Given the description of an element on the screen output the (x, y) to click on. 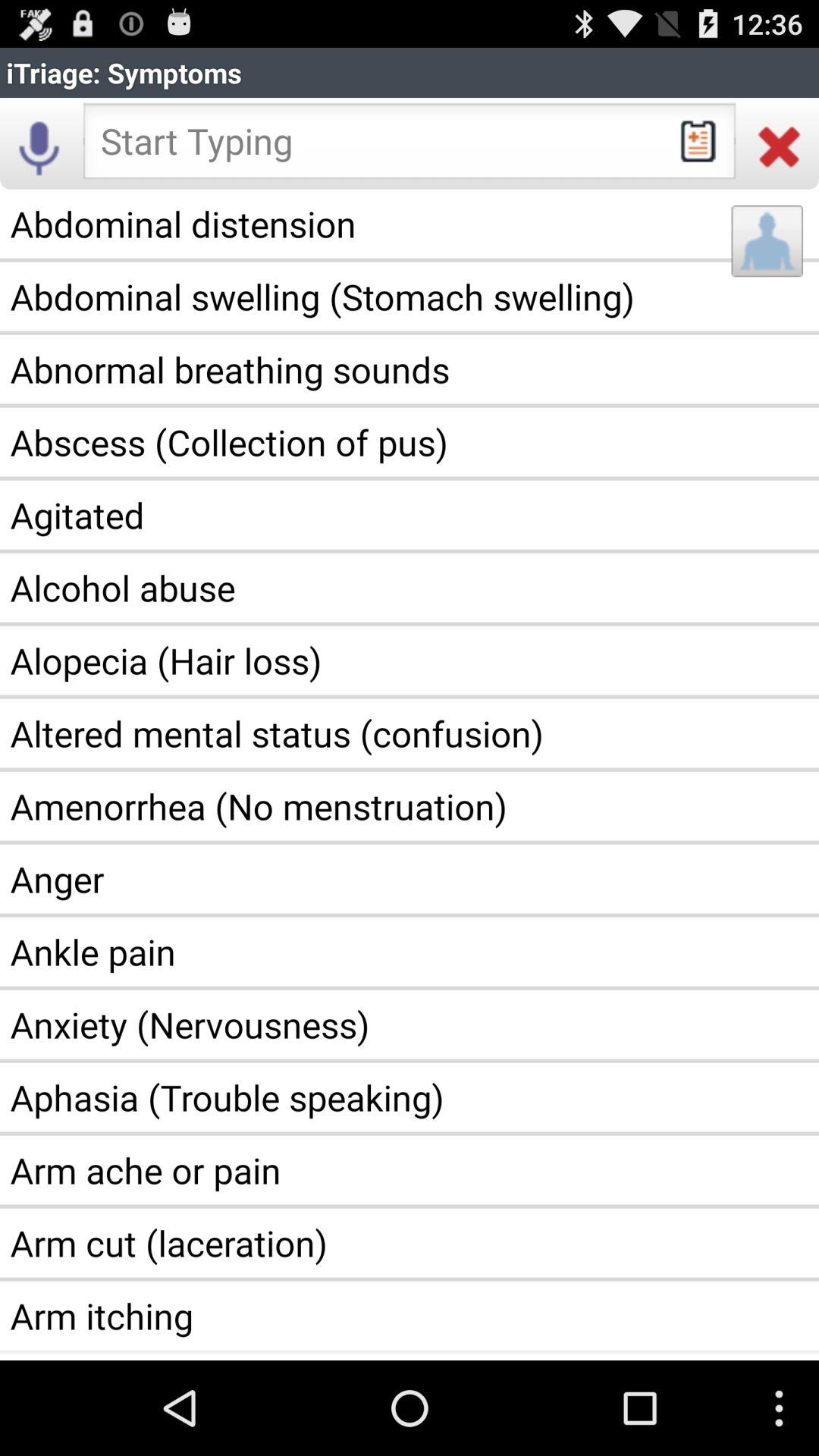
tap icon below the abnormal breathing sounds icon (409, 442)
